Given the description of an element on the screen output the (x, y) to click on. 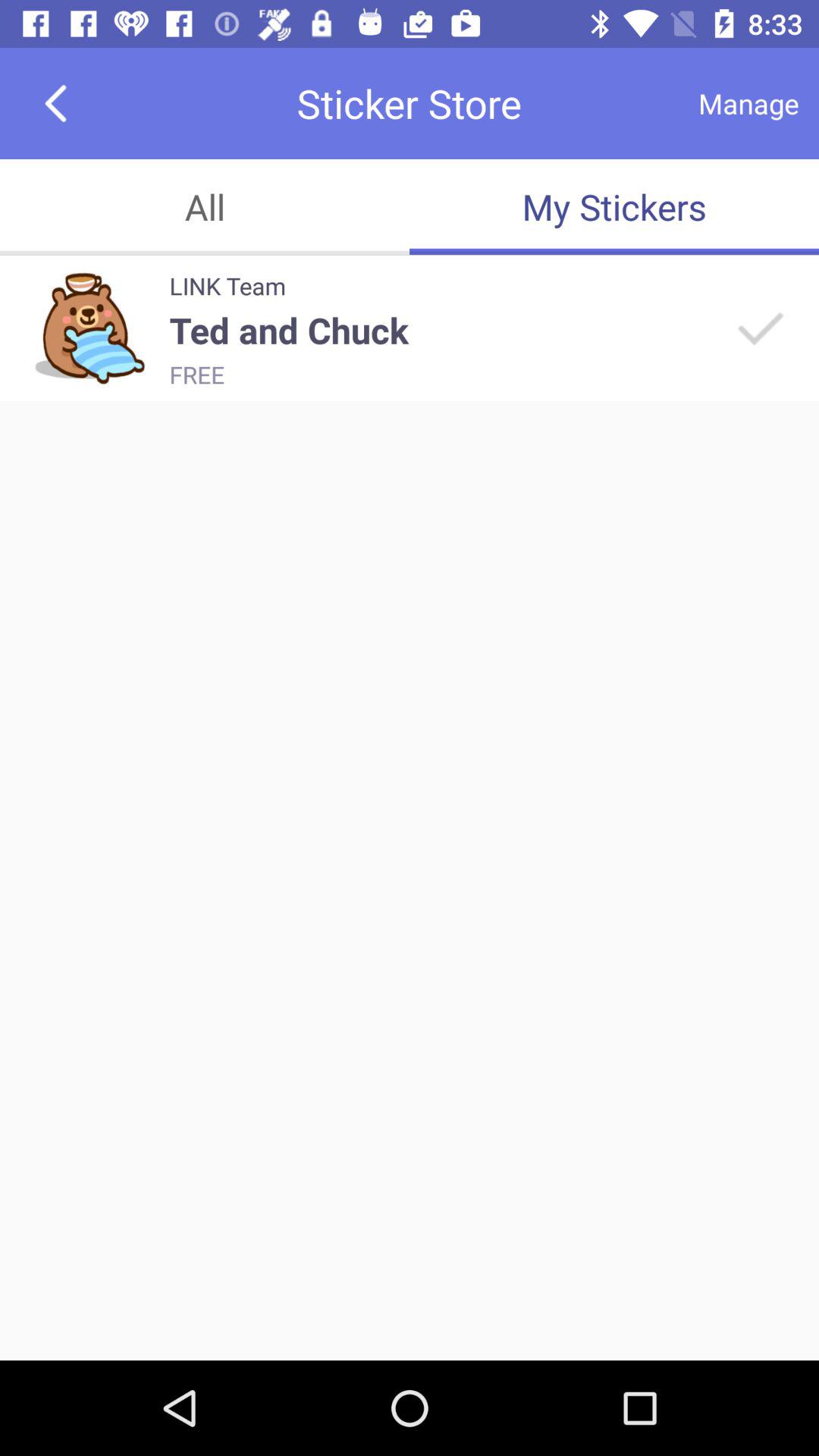
swipe until my stickers (614, 206)
